Given the description of an element on the screen output the (x, y) to click on. 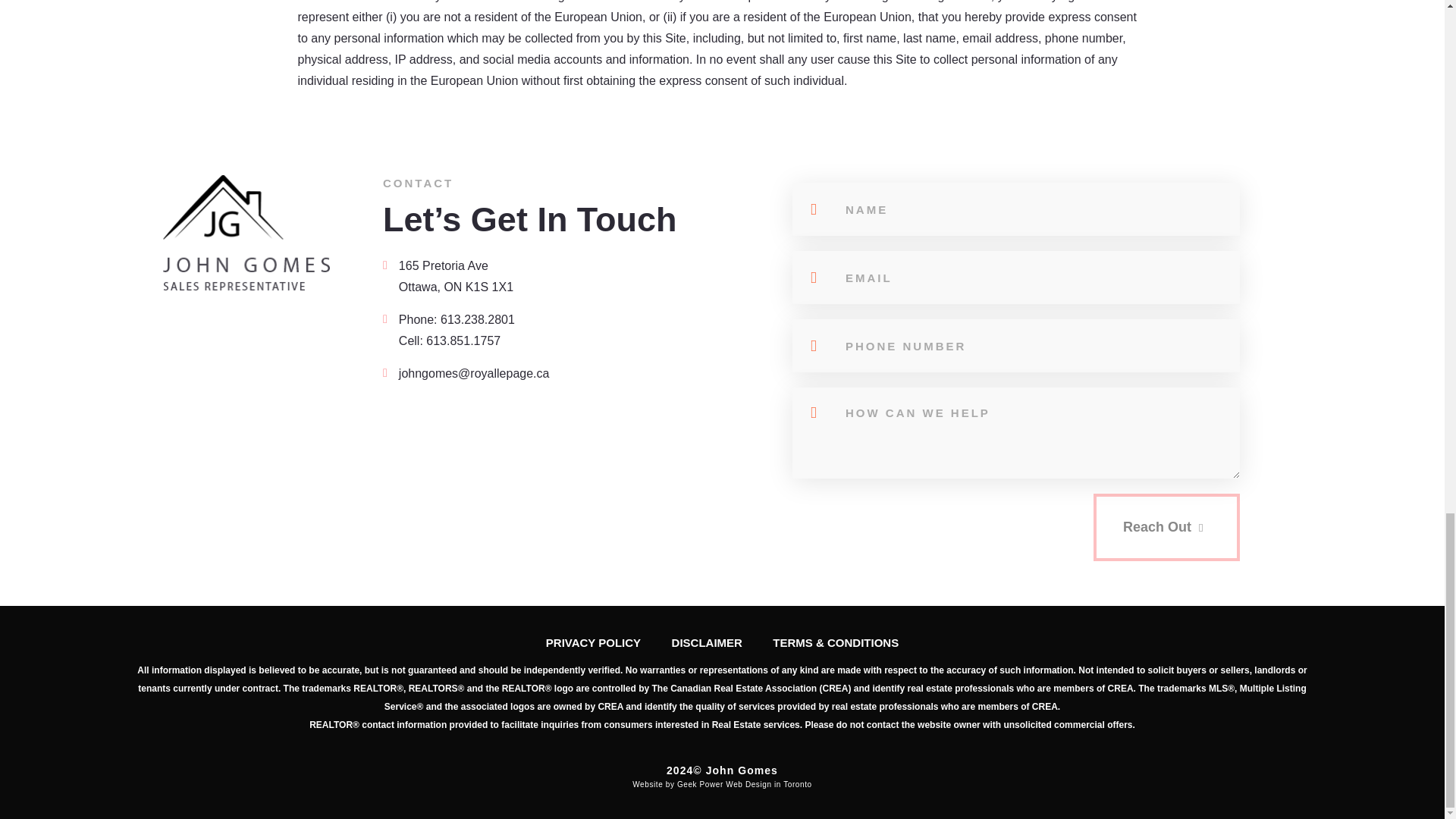
PRIVACY POLICY (593, 642)
Reach Out (1166, 581)
Web Design in Toronto (767, 784)
DISCLAIMER (706, 642)
